Given the description of an element on the screen output the (x, y) to click on. 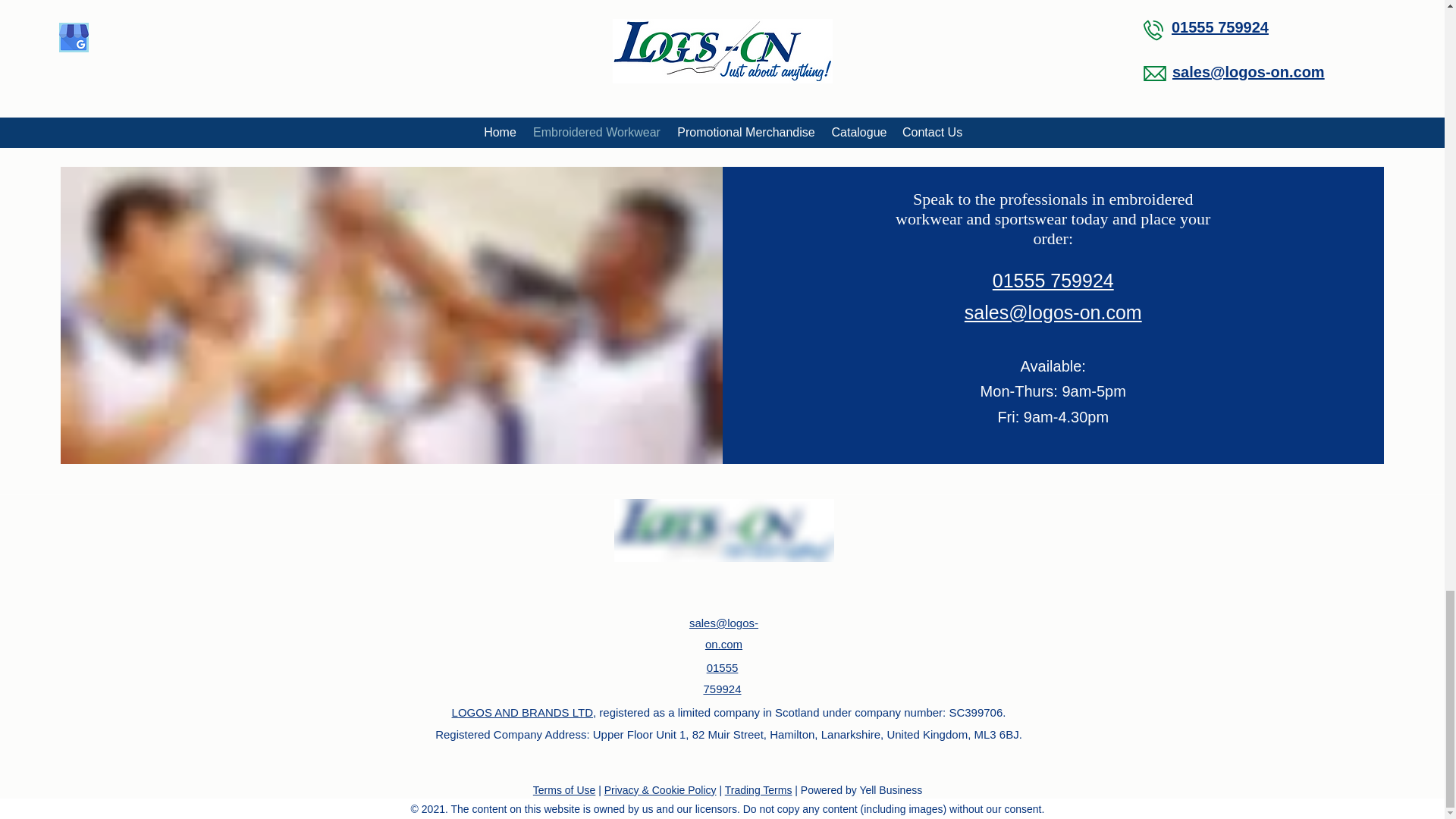
E. Aitken - Google Review (721, 82)
LOGOS AND BRANDS LTD (521, 712)
01555 759924 (722, 677)
Terms of Use (563, 789)
01555 759924 (1052, 280)
Trading Terms (758, 789)
